Given the description of an element on the screen output the (x, y) to click on. 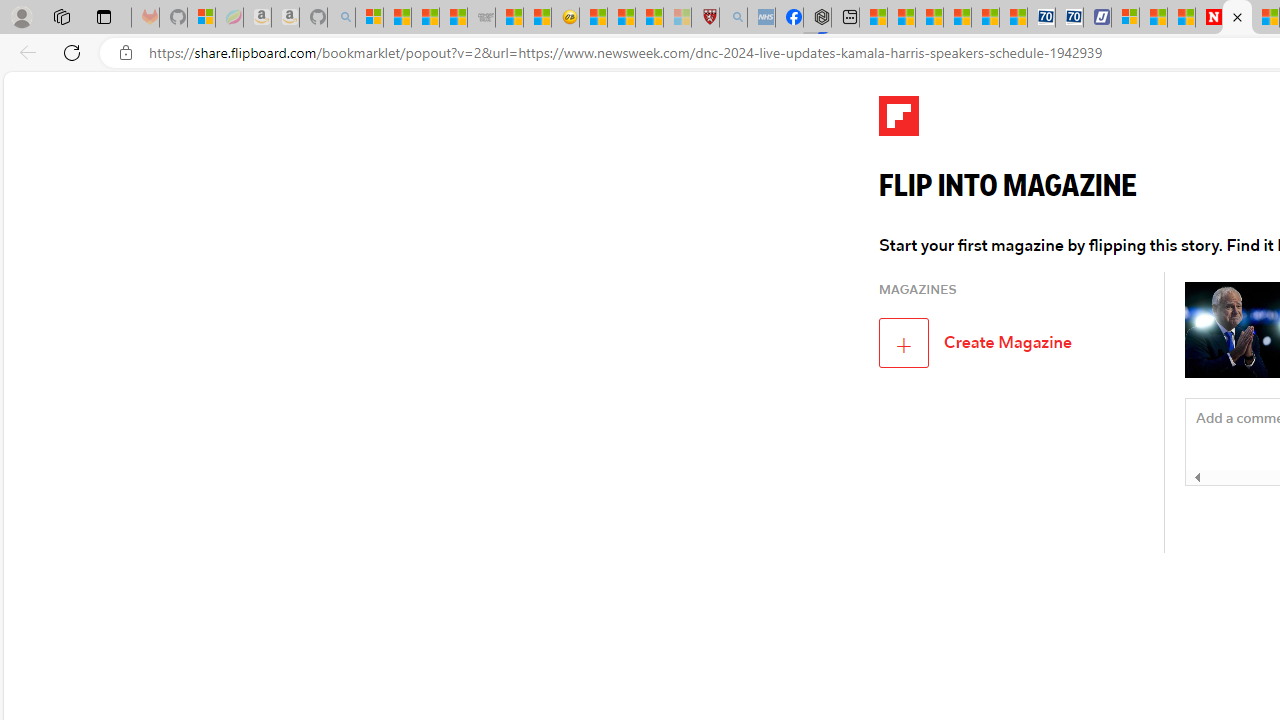
Newsweek - News, Analysis, Politics, Business, Technology (1208, 17)
Class: logo (899, 115)
